Given the description of an element on the screen output the (x, y) to click on. 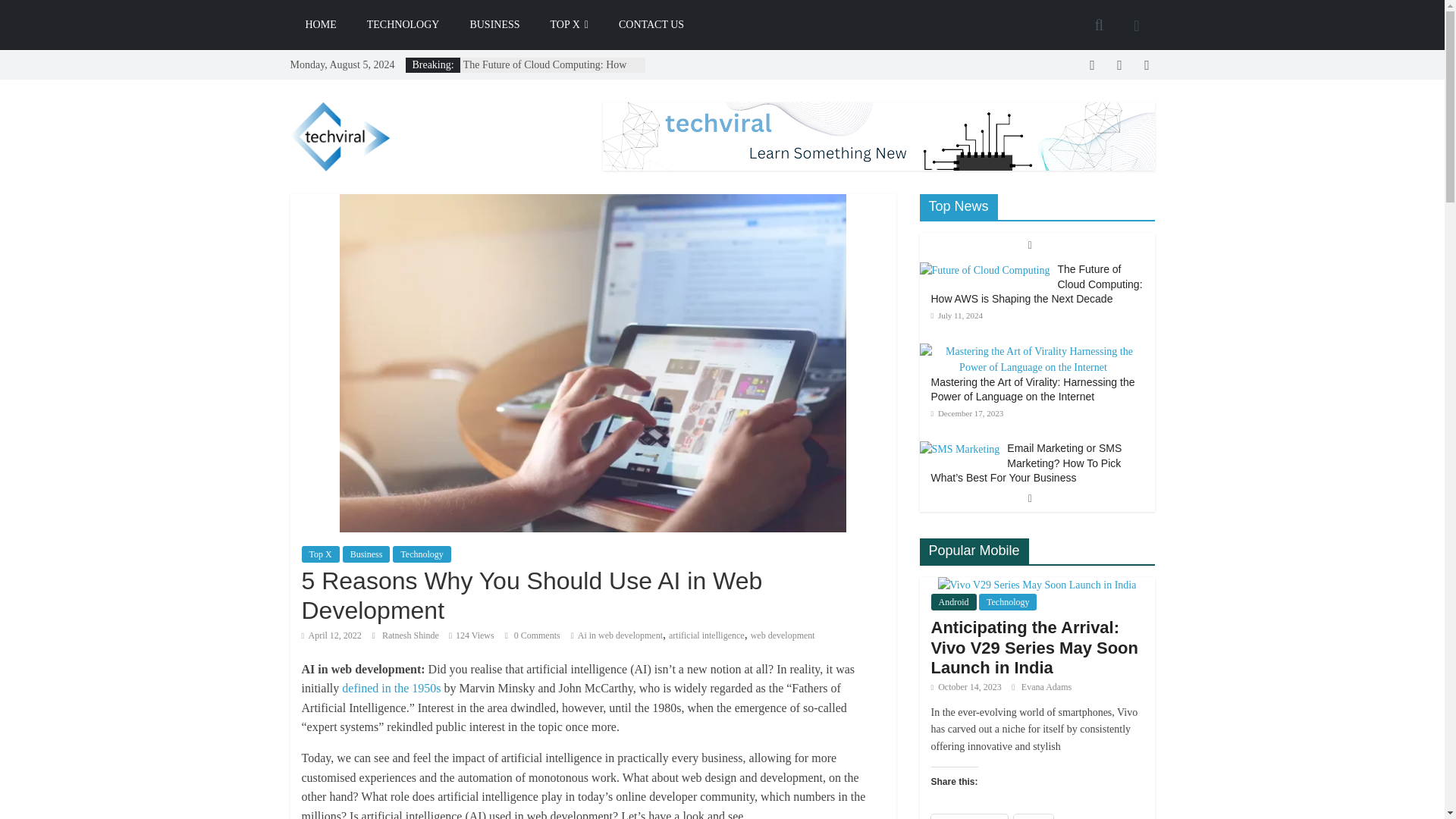
TOP X (569, 24)
0 Comments (532, 634)
Ai in web development (620, 634)
defined in the 1950s (391, 687)
TECHNOLOGY (403, 24)
Ratnesh Shinde (411, 634)
Business (366, 554)
CONTACT US (651, 24)
